Given the description of an element on the screen output the (x, y) to click on. 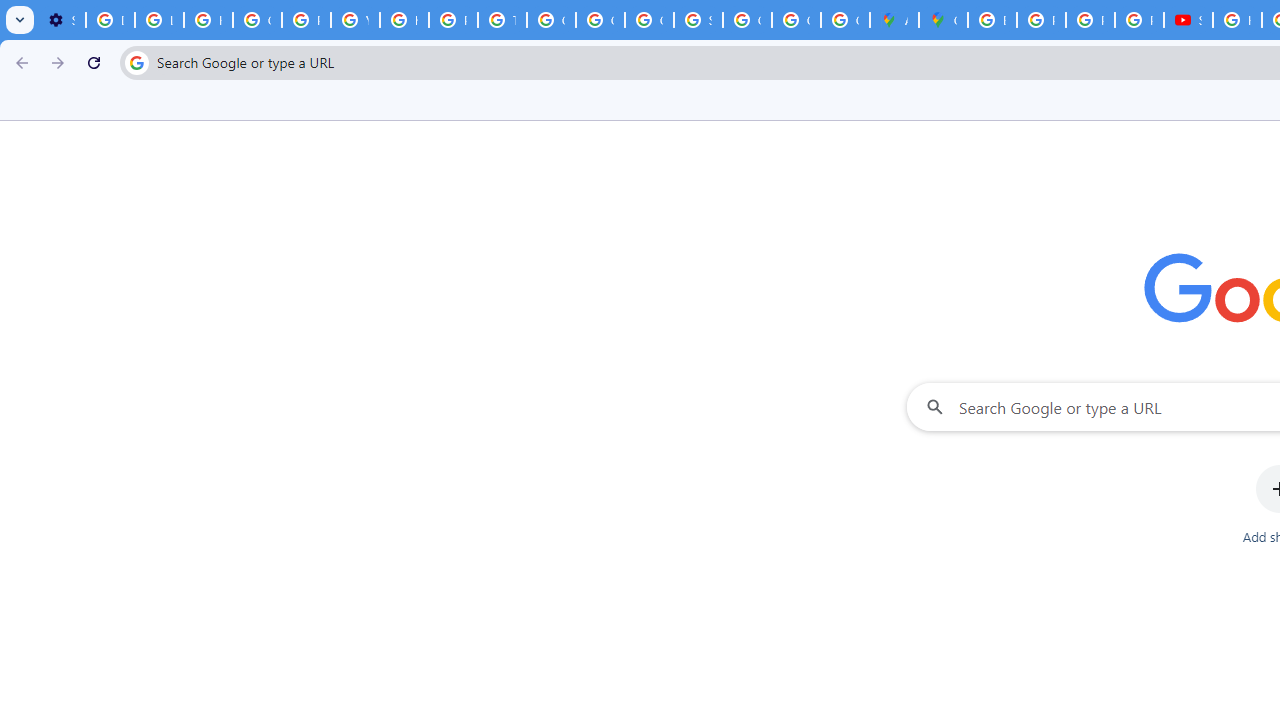
Subscriptions - YouTube (1188, 20)
Google Maps (943, 20)
How Chrome protects your passwords - Google Chrome Help (1237, 20)
Privacy Help Center - Policies Help (1090, 20)
Settings - Customize profile (61, 20)
Blogger Policies and Guidelines - Transparency Center (992, 20)
